Given the description of an element on the screen output the (x, y) to click on. 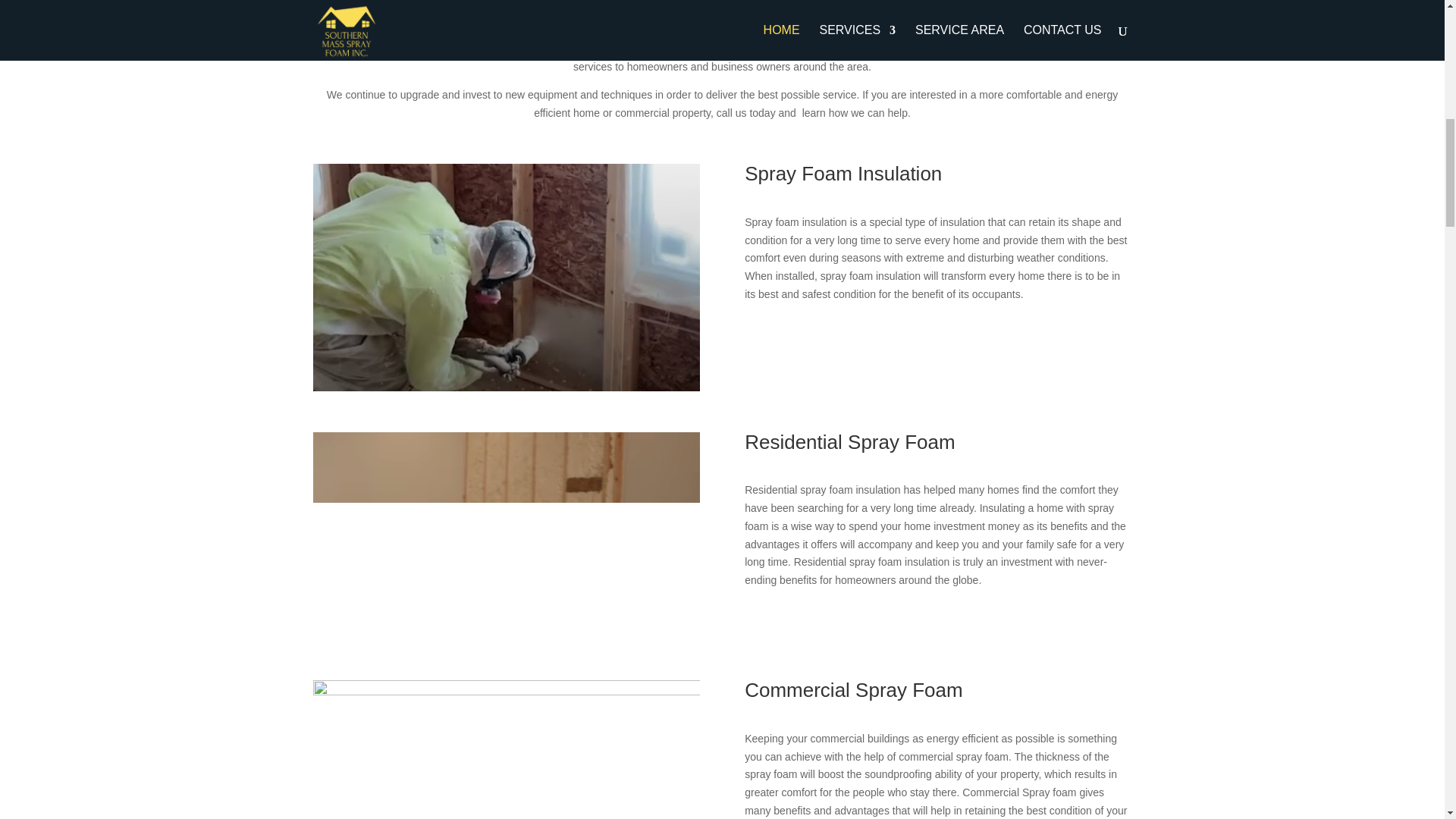
Spray Foam Insulation Brockton MA (505, 749)
